Given the description of an element on the screen output the (x, y) to click on. 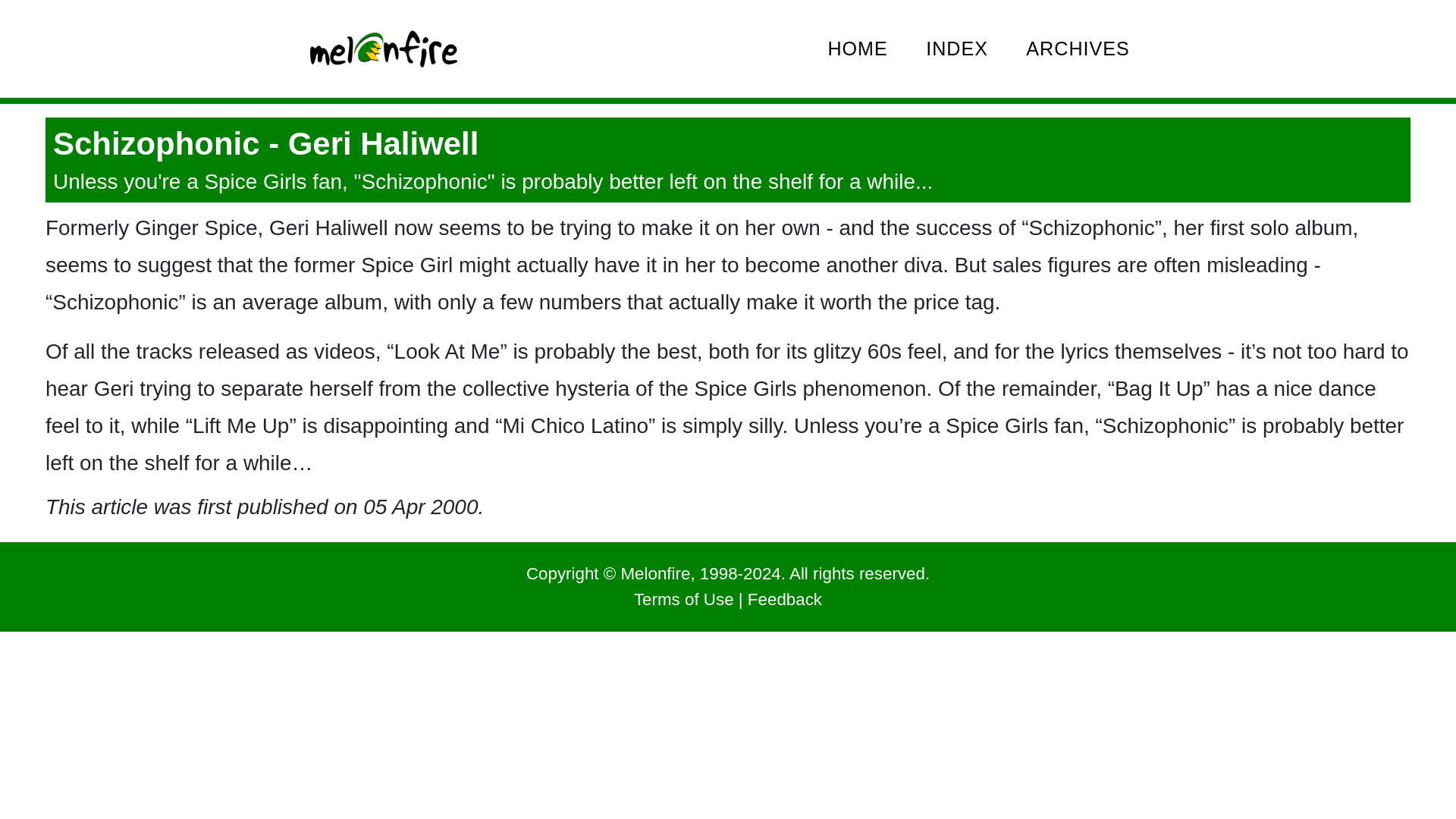
ARCHIVES (1077, 48)
ARCHIVES (1077, 48)
INDEX (957, 48)
Terms of Use (683, 599)
Feedback (785, 599)
HOME (857, 48)
INDEX (957, 48)
HOME (857, 48)
